Given the description of an element on the screen output the (x, y) to click on. 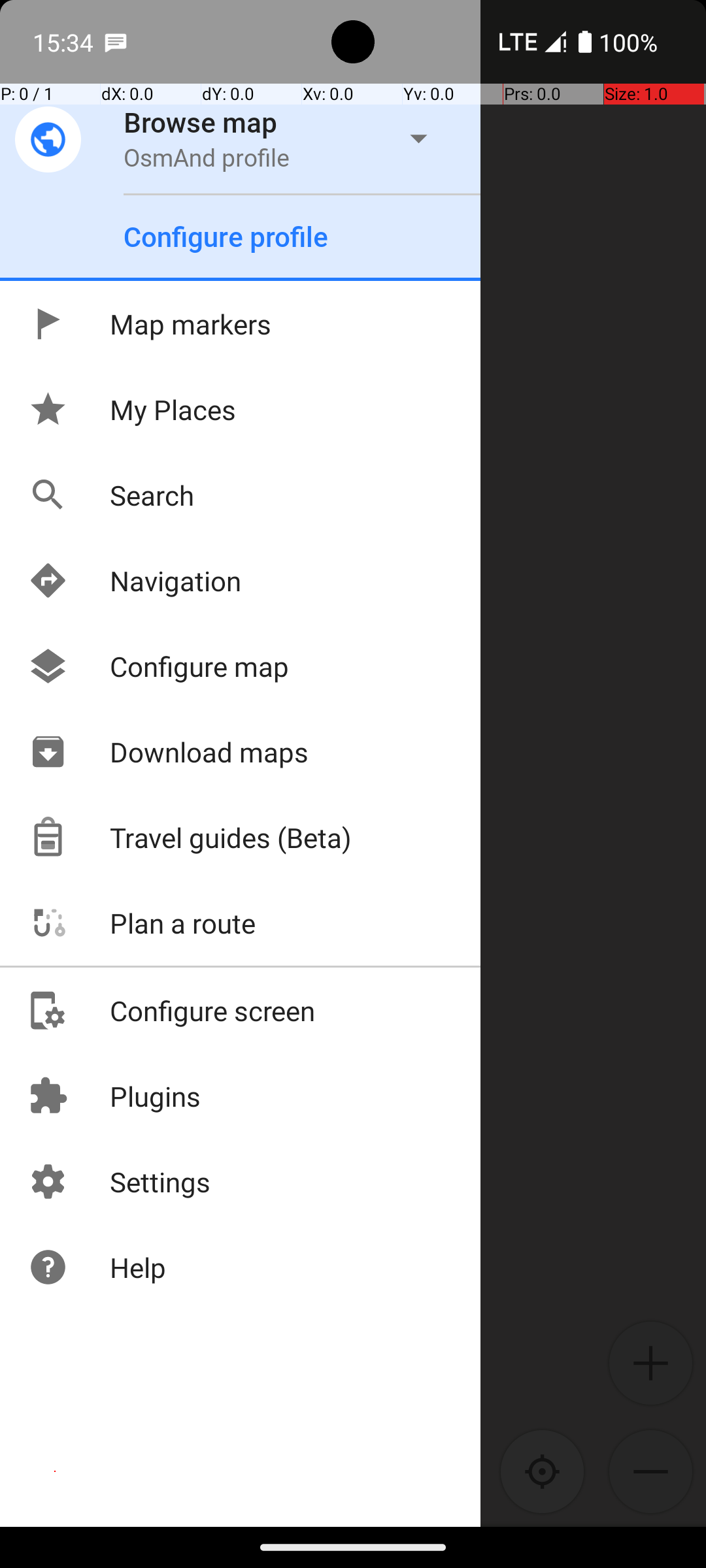
Browse map Element type: android.widget.TextView (200, 121)
OsmAnd profile Element type: android.widget.TextView (206, 156)
Configure profile Element type: android.widget.TextView (225, 235)
My Places Element type: android.widget.TextView (131, 409)
Navigation Element type: android.widget.TextView (134, 580)
Download maps Element type: android.widget.TextView (168, 751)
Travel guides (Beta) Element type: android.widget.TextView (189, 837)
Plan a route Element type: android.widget.TextView (141, 922)
Configure screen Element type: android.widget.TextView (171, 1010)
Plugins Element type: android.widget.TextView (114, 1095)
